Given the description of an element on the screen output the (x, y) to click on. 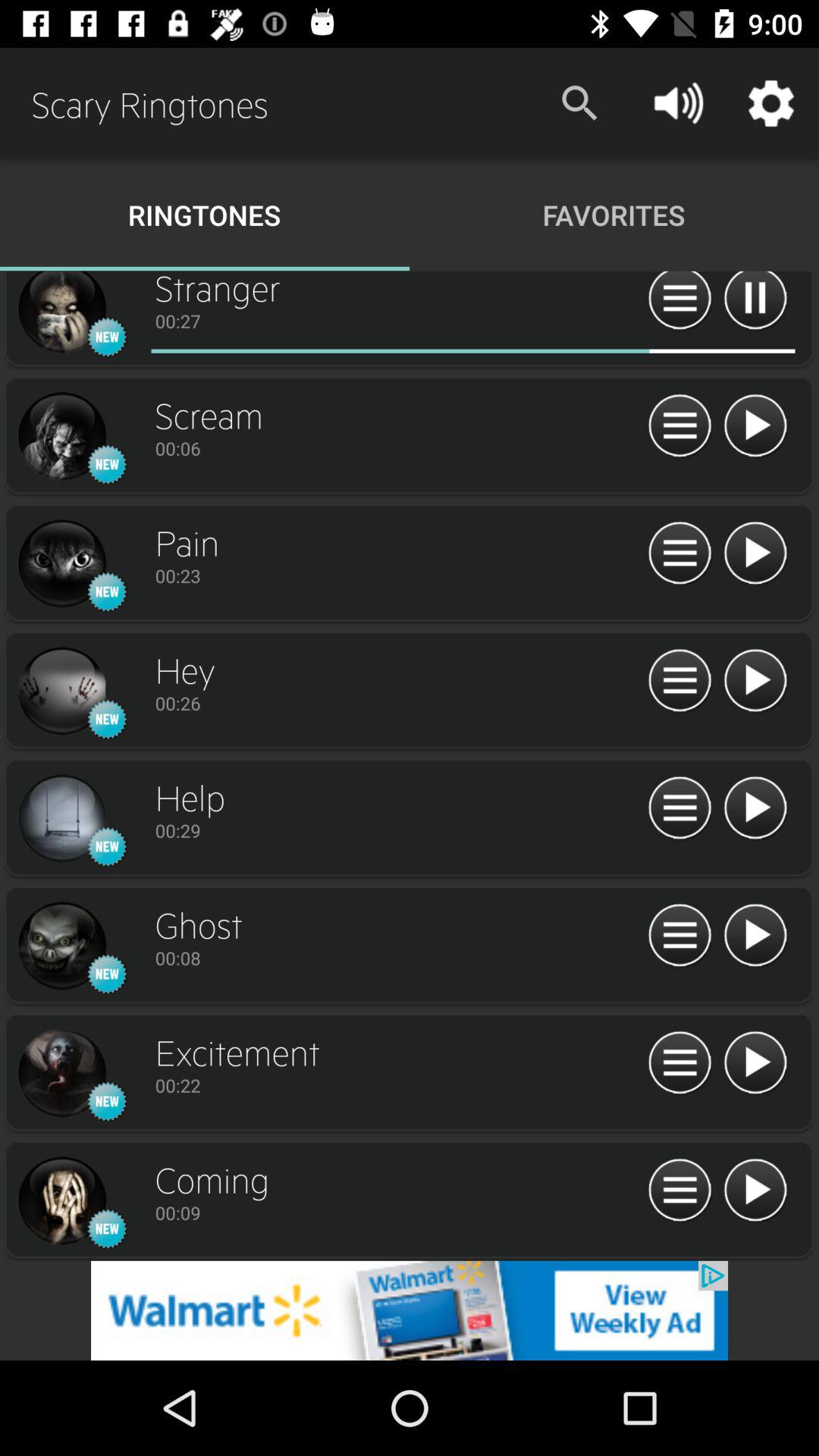
go to previous (61, 314)
